Given the description of an element on the screen output the (x, y) to click on. 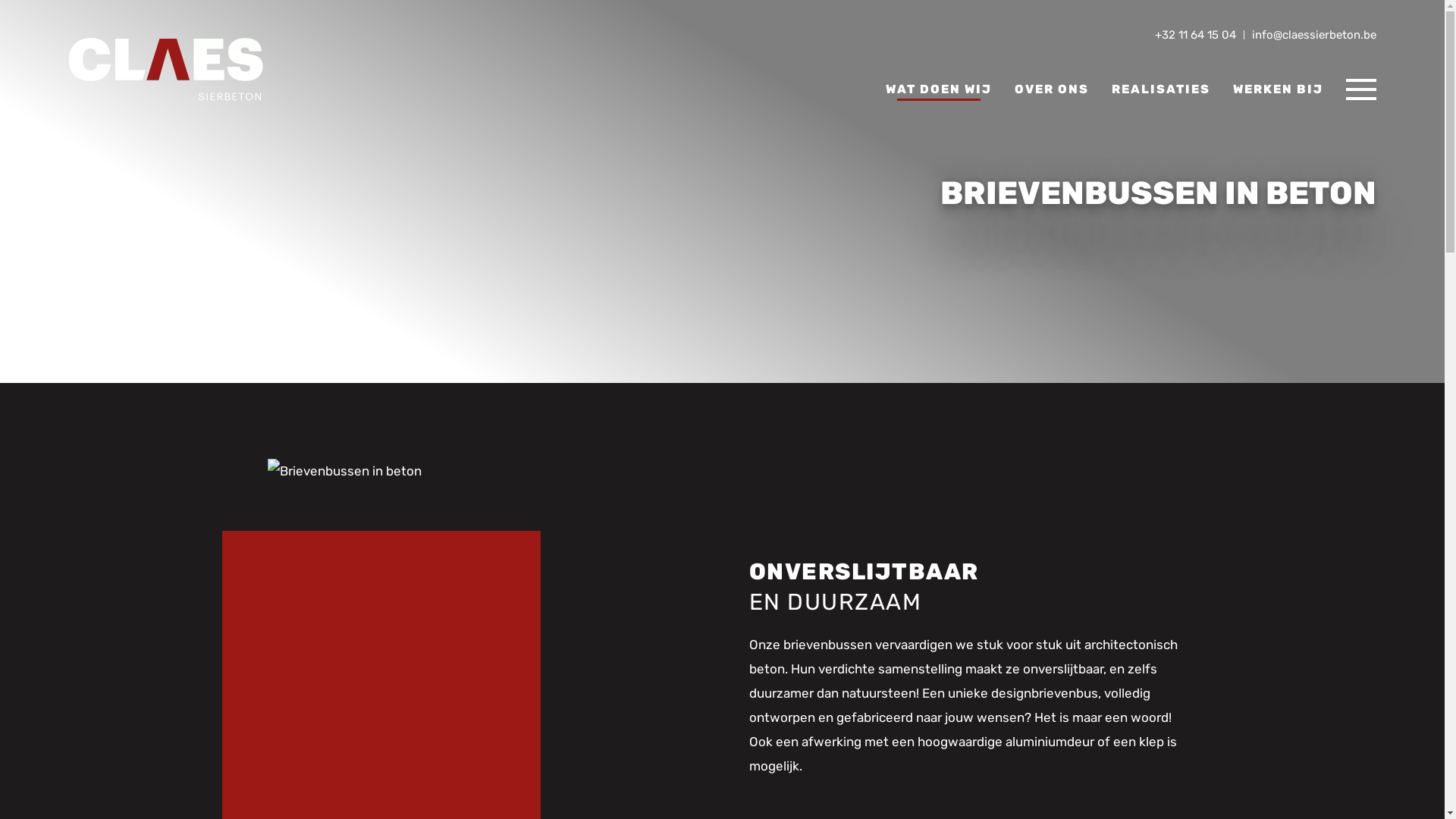
REALISATIES Element type: text (1160, 89)
+32 11 64 15 04 Element type: text (1195, 34)
WAT DOEN WIJ Element type: text (938, 89)
info@claessierbeton.be Element type: text (1314, 34)
WERKEN BIJ Element type: text (1278, 89)
OVER ONS Element type: text (1051, 89)
